Given the description of an element on the screen output the (x, y) to click on. 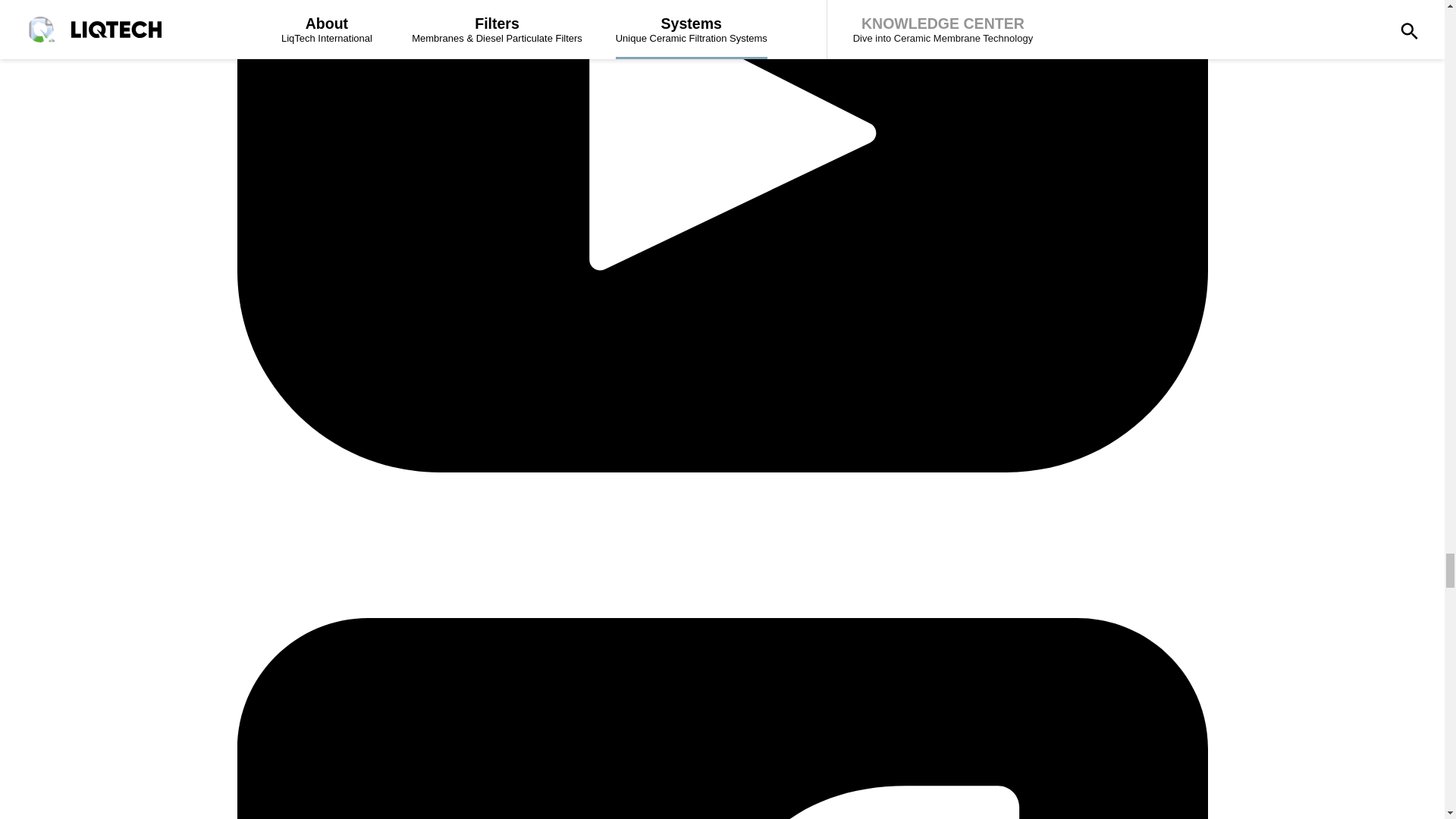
YouTube (721, 609)
